Given the description of an element on the screen output the (x, y) to click on. 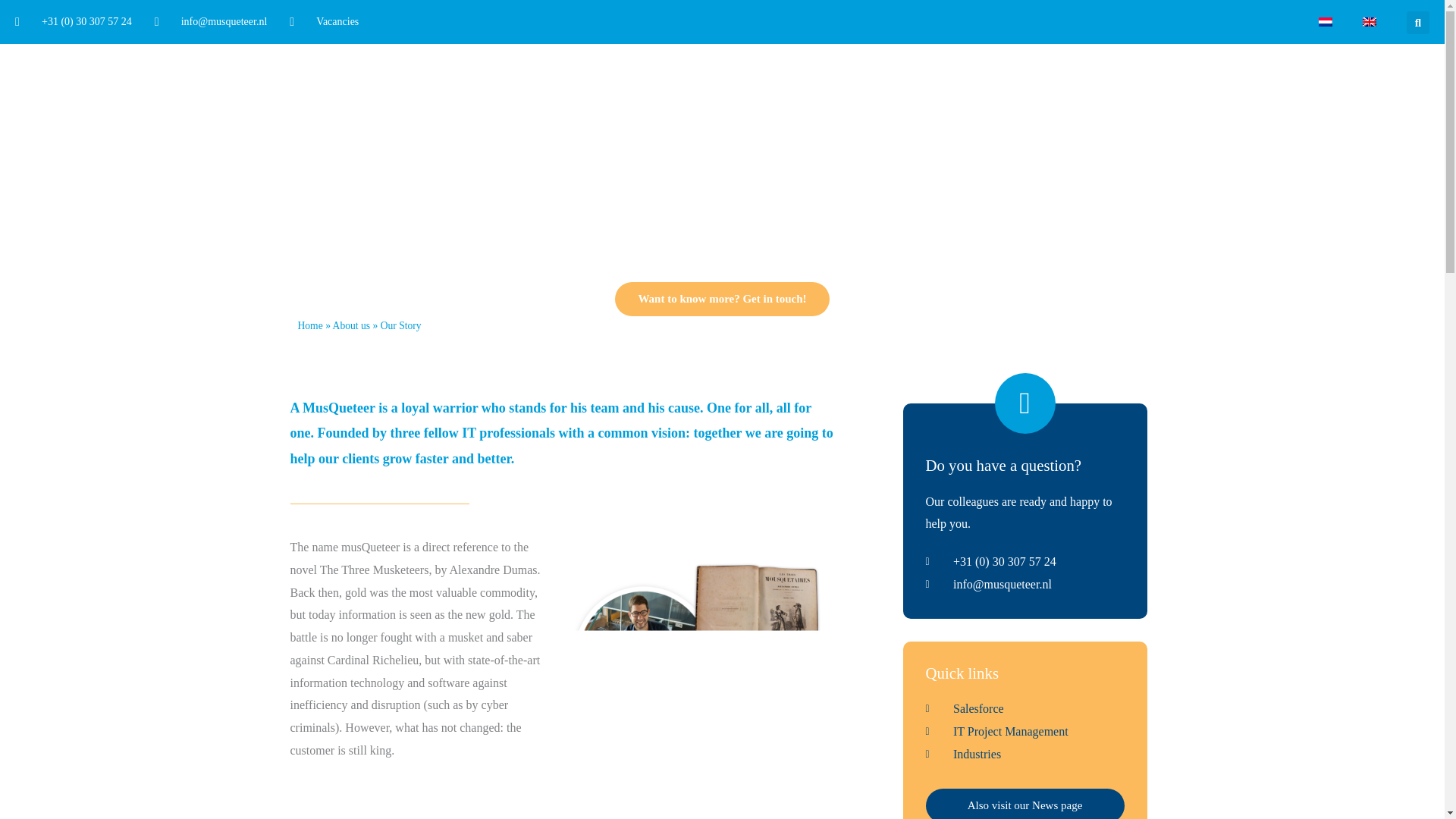
Also visit our News page (1024, 803)
Industries (1024, 753)
About us (351, 325)
Salesforce (1024, 708)
Home (309, 325)
Vacancies (323, 21)
IT Project Management (1024, 731)
Want to know more? Get in touch! (721, 298)
